Given the description of an element on the screen output the (x, y) to click on. 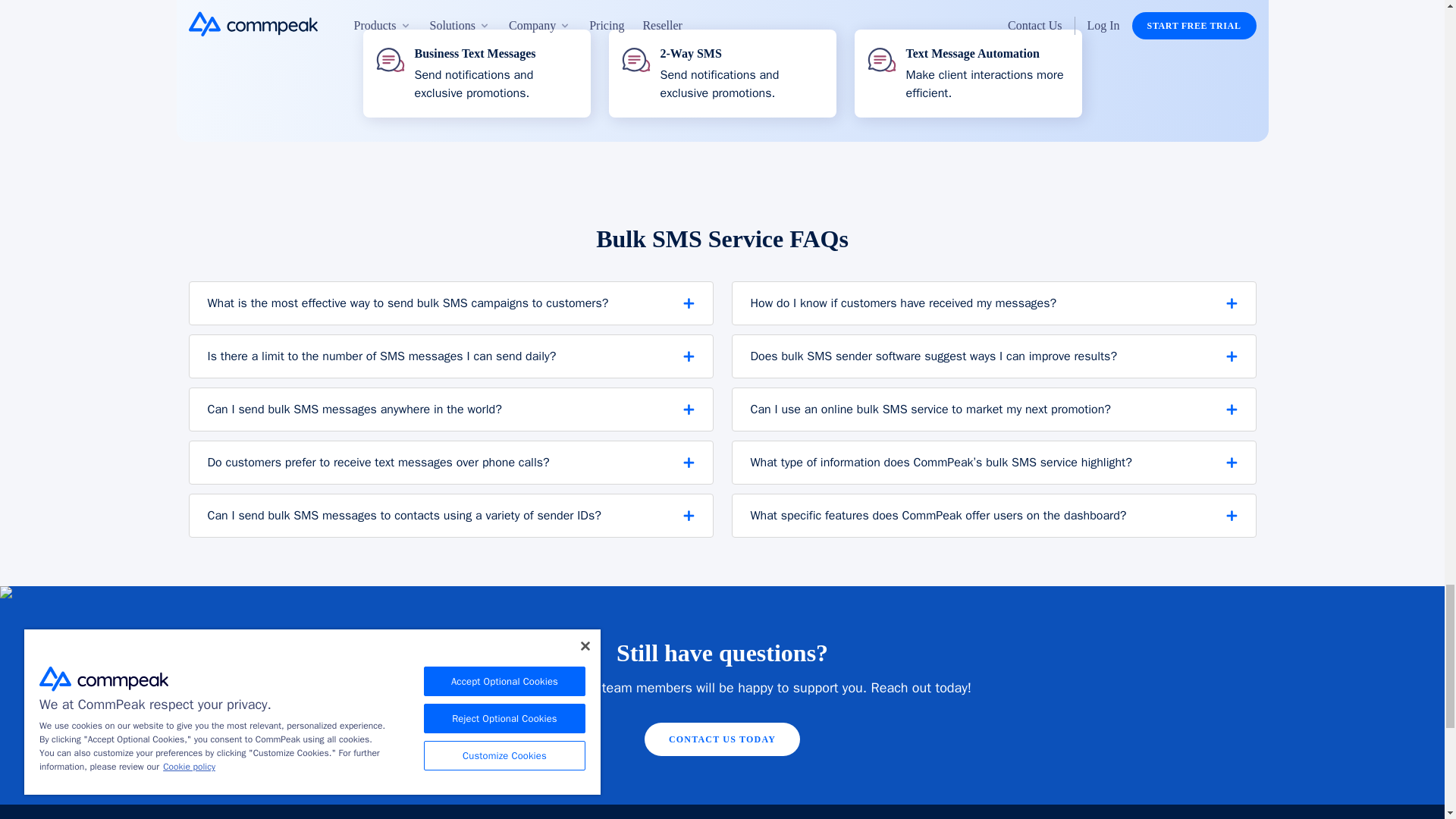
Can I send bulk SMS messages anywhere in the world? (451, 409)
How do I know if customers have received my messages? (993, 302)
CONTACT US TODAY (722, 738)
